Given the description of an element on the screen output the (x, y) to click on. 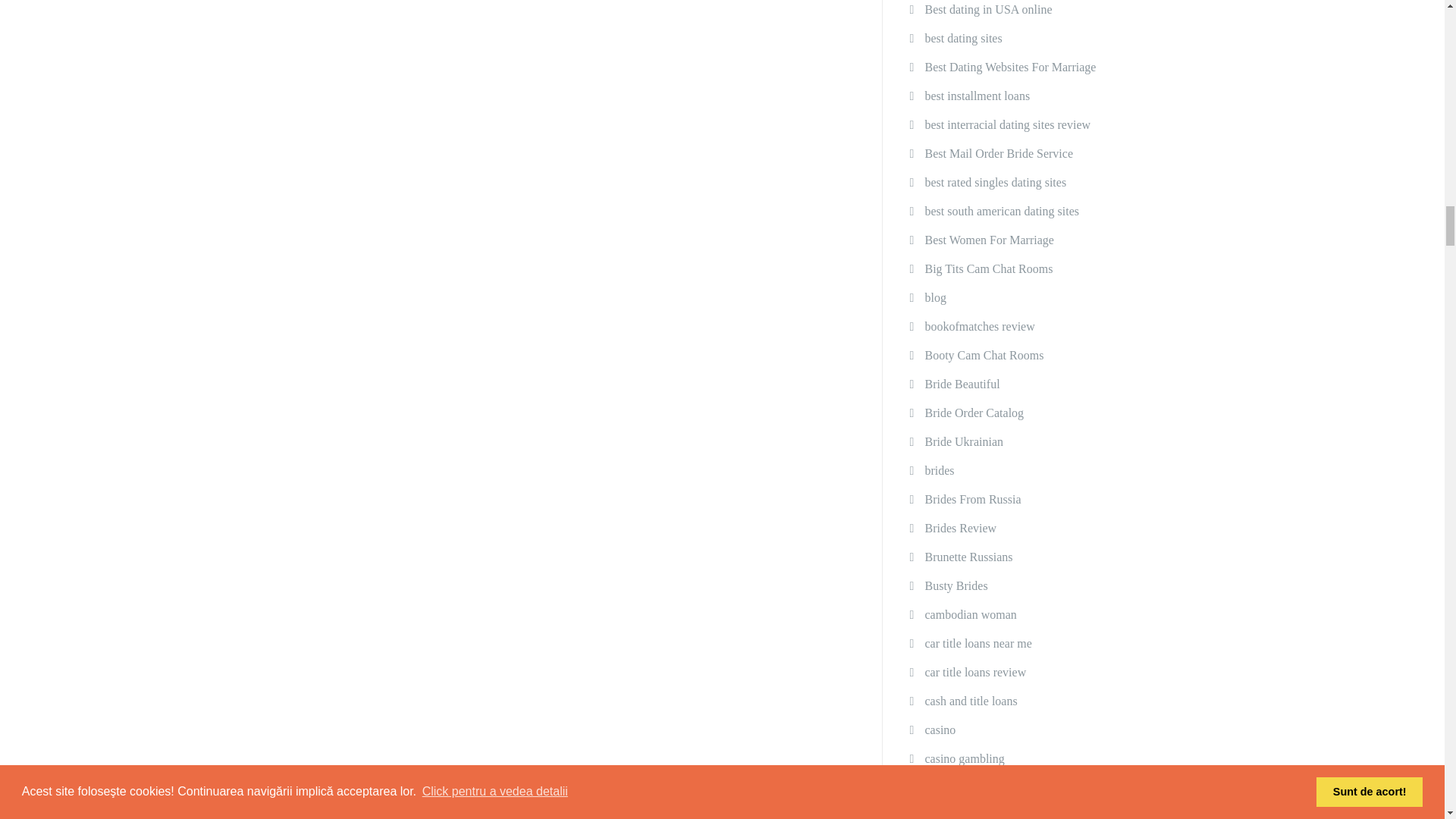
casino gambling (964, 758)
